Given the description of an element on the screen output the (x, y) to click on. 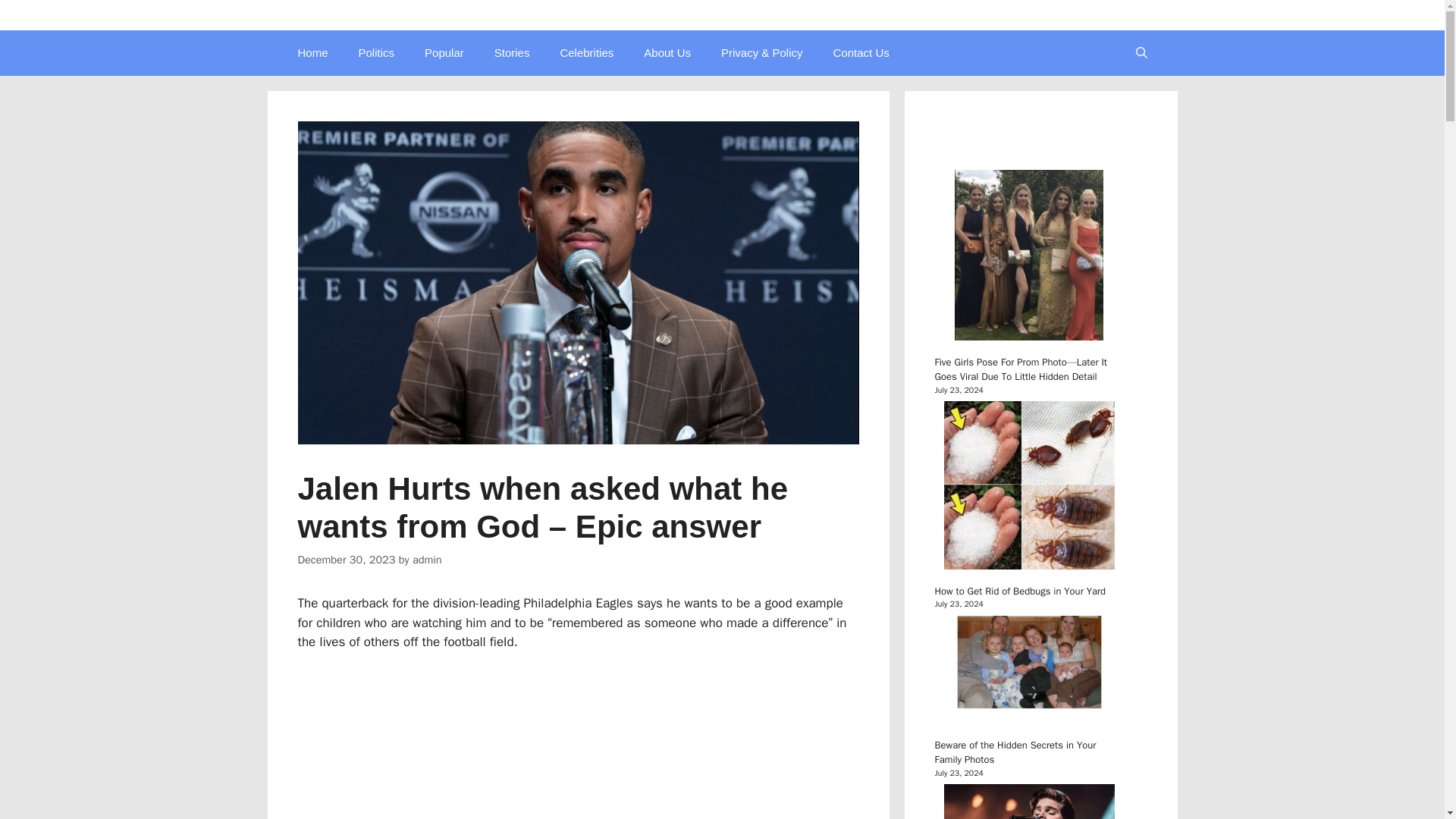
admin (427, 559)
Stories (511, 53)
How to Get Rid of Bedbugs in Your Yard (1019, 590)
Popular (444, 53)
Contact Us (861, 53)
Home (312, 53)
Celebrities (586, 53)
Beware of the Hidden Secrets in Your Family Photos (1015, 752)
About Us (667, 53)
View all posts by admin (427, 559)
Politics (376, 53)
